Given the description of an element on the screen output the (x, y) to click on. 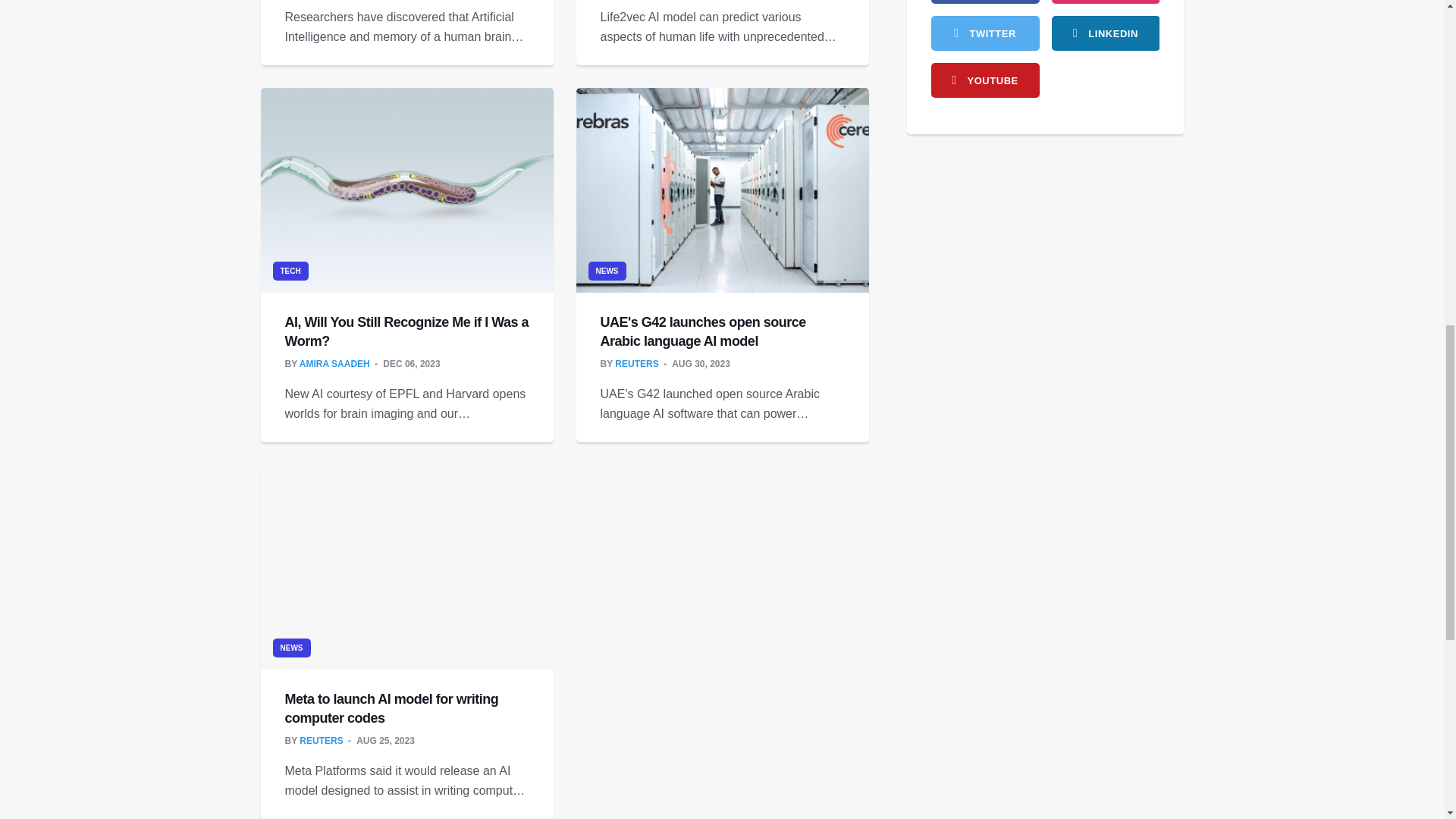
twitter (985, 32)
youtube (985, 80)
facebook (985, 2)
rss (1104, 32)
instagram (1104, 2)
